Given the description of an element on the screen output the (x, y) to click on. 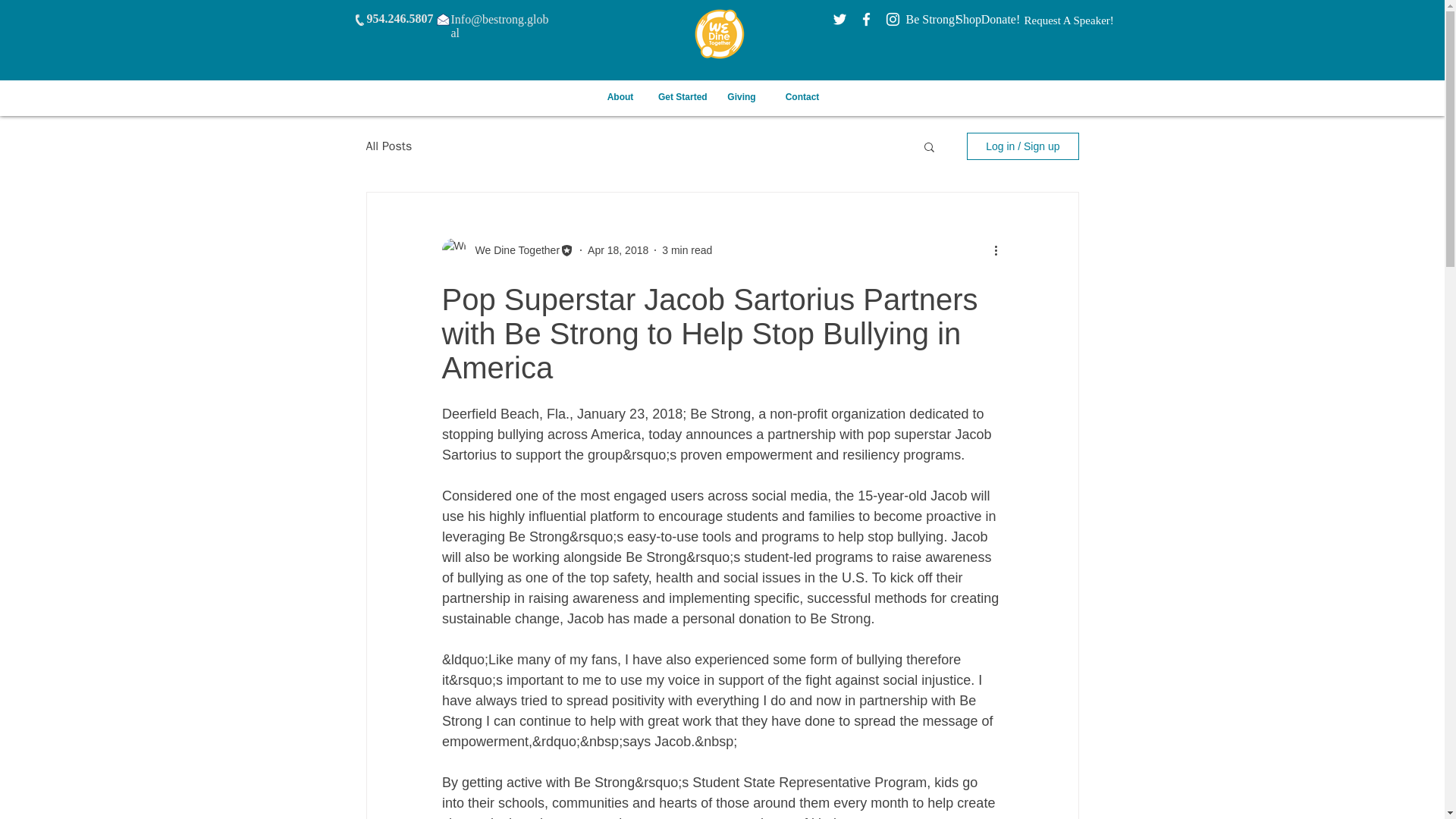
All Posts (388, 145)
Apr 18, 2018 (617, 250)
3 min read (686, 250)
About (619, 97)
We Dine Together (512, 250)
Get Started (680, 97)
Be Strong! (931, 19)
Giving (741, 97)
Shop (968, 19)
Donate! (1000, 19)
Request A Speaker! (1068, 20)
Contact (801, 97)
